Given the description of an element on the screen output the (x, y) to click on. 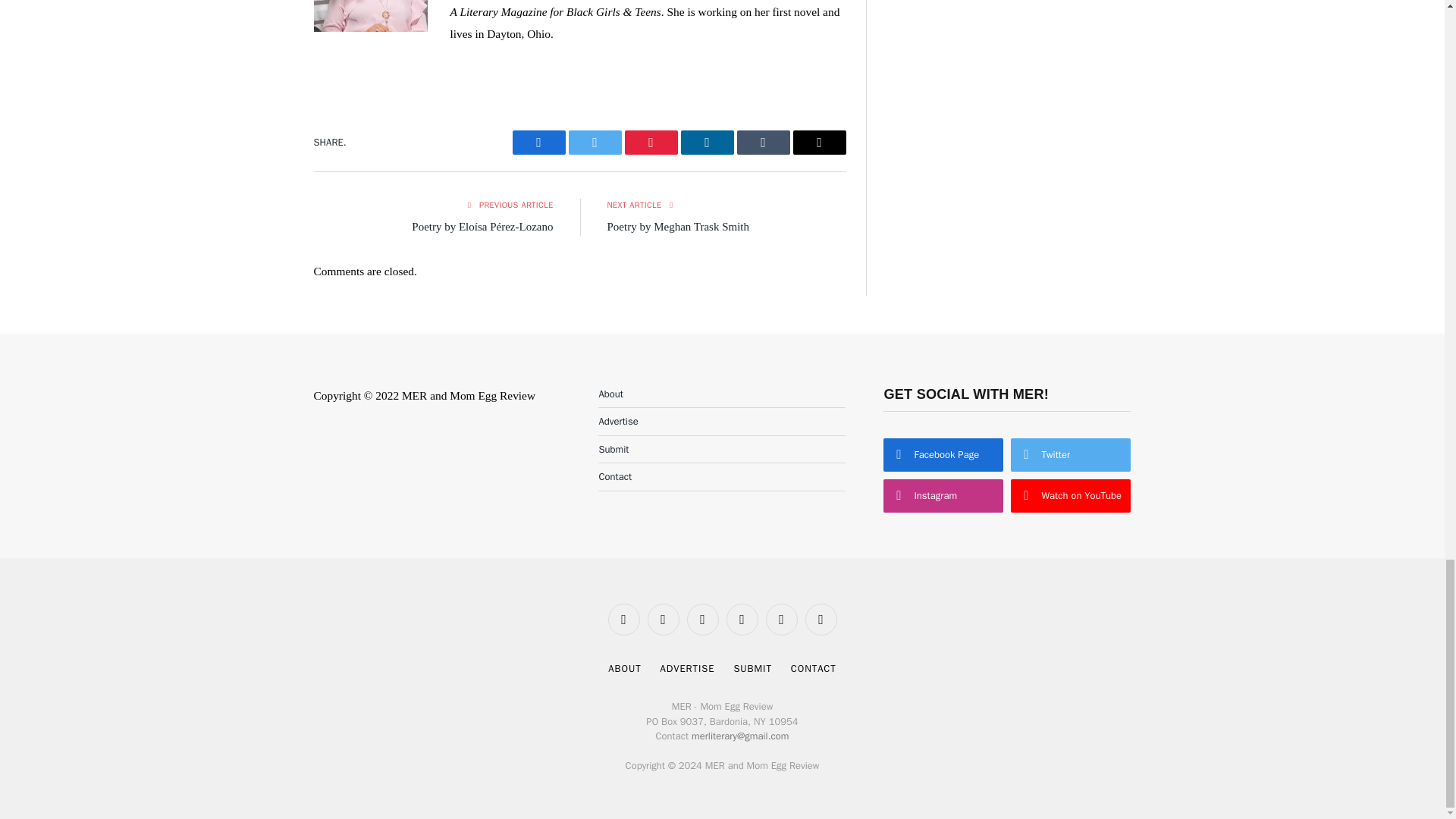
Share on Facebook (539, 142)
Share via Email (819, 142)
Share on LinkedIn (707, 142)
Share on Tumblr (763, 142)
Share on Pinterest (651, 142)
